Given the description of an element on the screen output the (x, y) to click on. 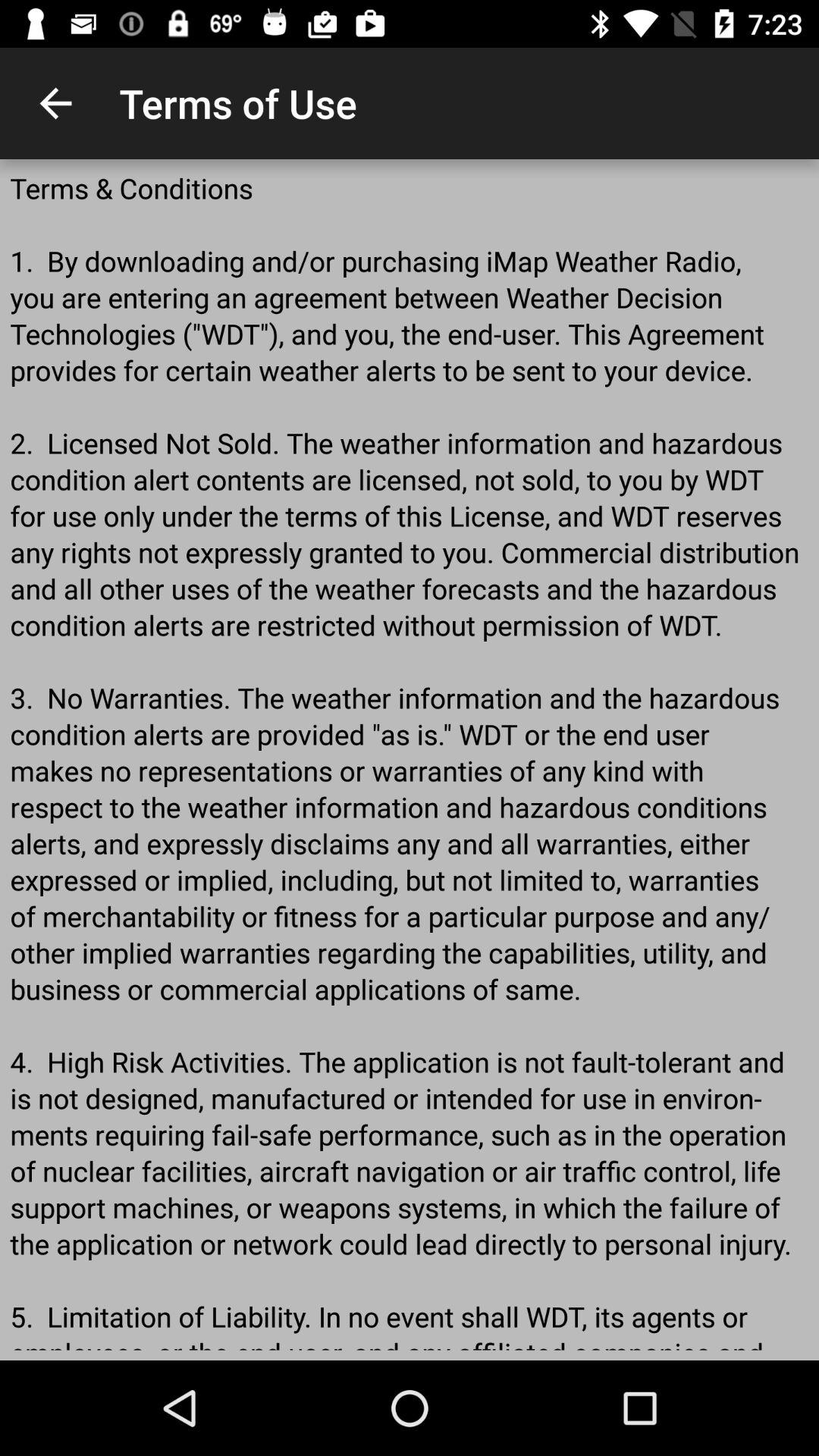
turn on the item above the terms conditions 1 item (55, 103)
